Given the description of an element on the screen output the (x, y) to click on. 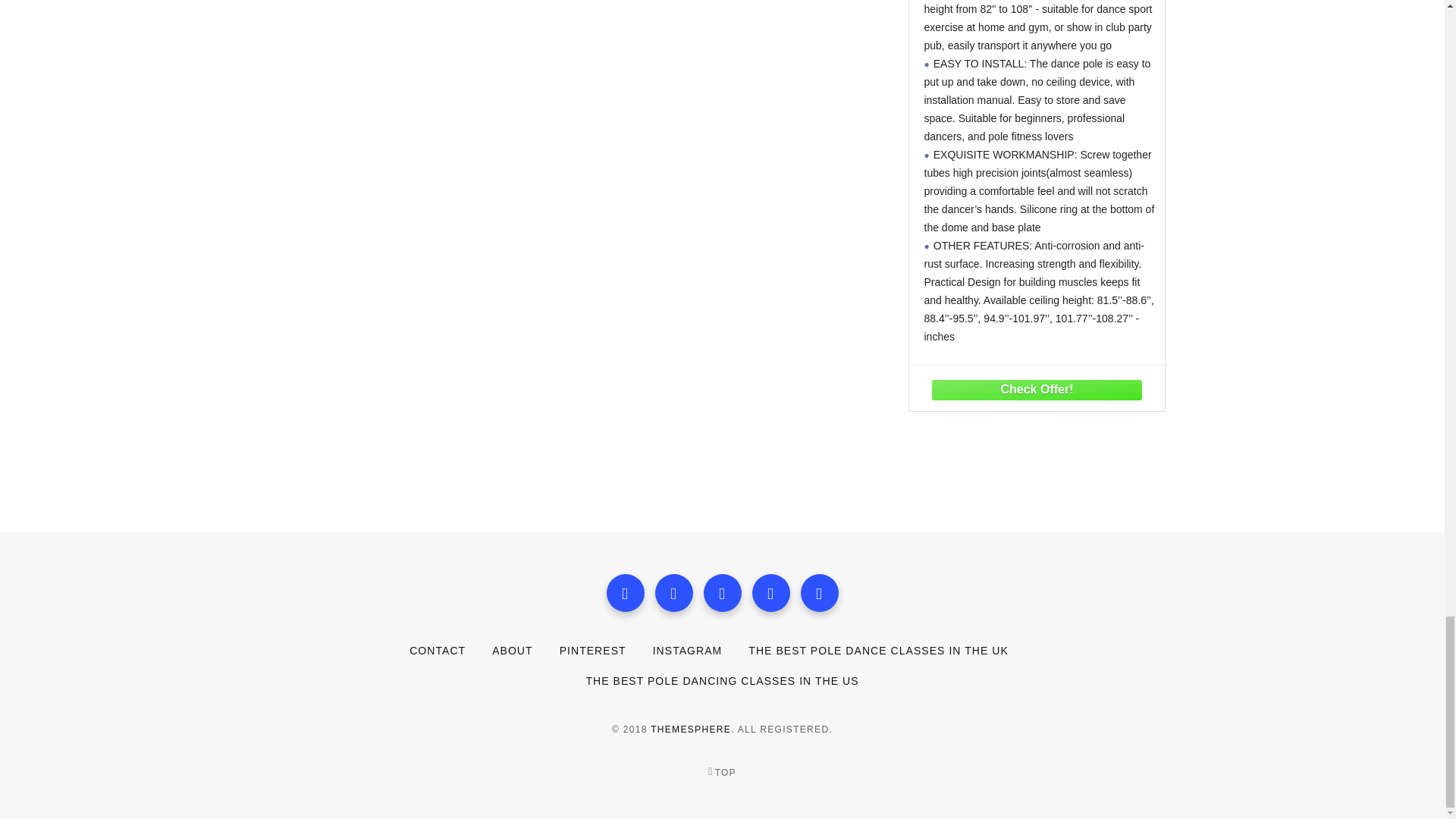
ABOUT (512, 650)
Dribbble (819, 592)
Instagram (722, 592)
Pinterest (771, 592)
Facebook (626, 592)
CONTACT (437, 650)
Twitter (674, 592)
